Given the description of an element on the screen output the (x, y) to click on. 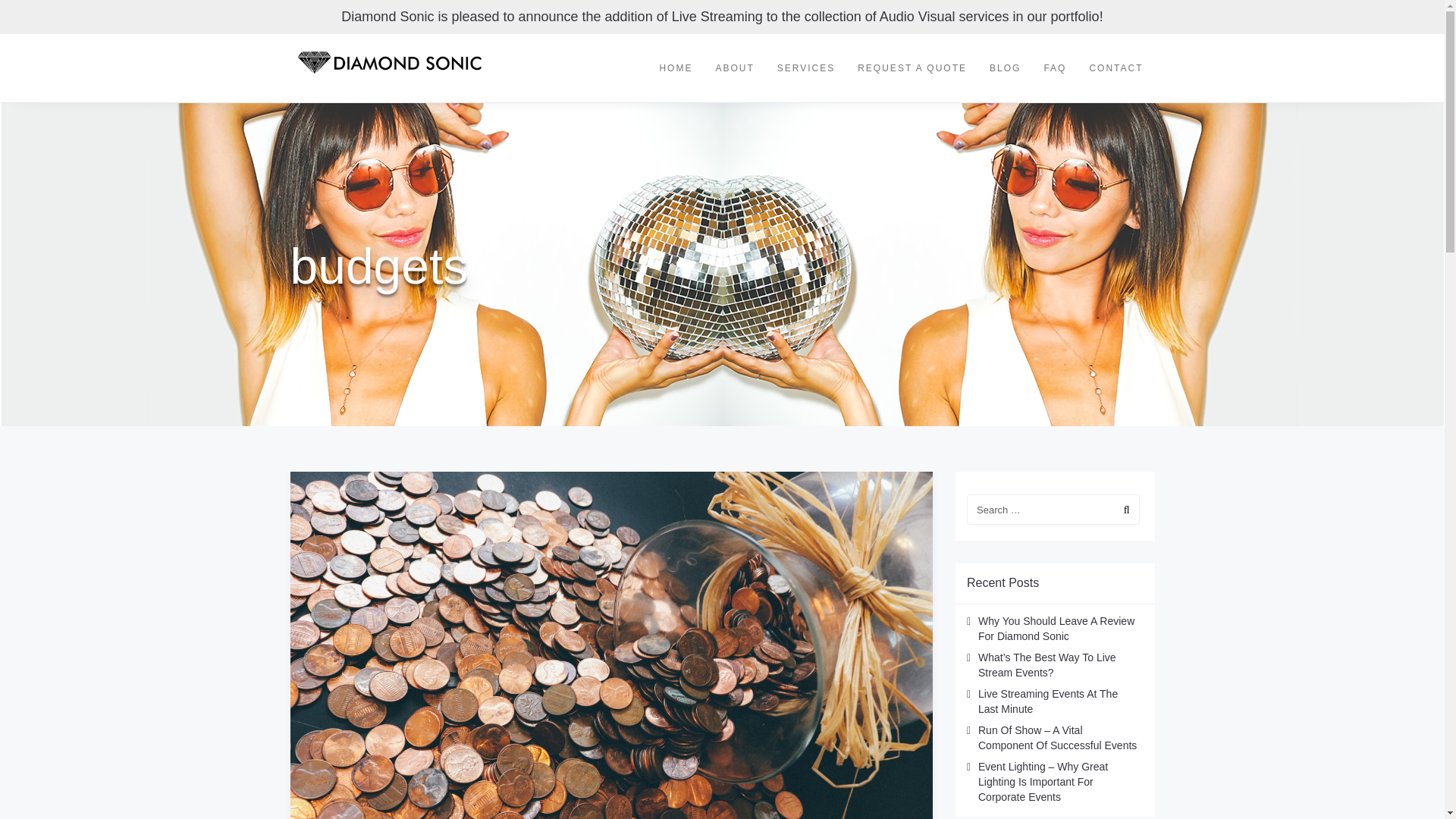
Why You Should Leave A Review For Diamond Sonic (1056, 628)
REQUEST A QUOTE (911, 68)
Live Streaming Events At The Last Minute (1048, 700)
SERVICES (805, 68)
ABOUT (734, 68)
CONTACT (1115, 68)
